Given the description of an element on the screen output the (x, y) to click on. 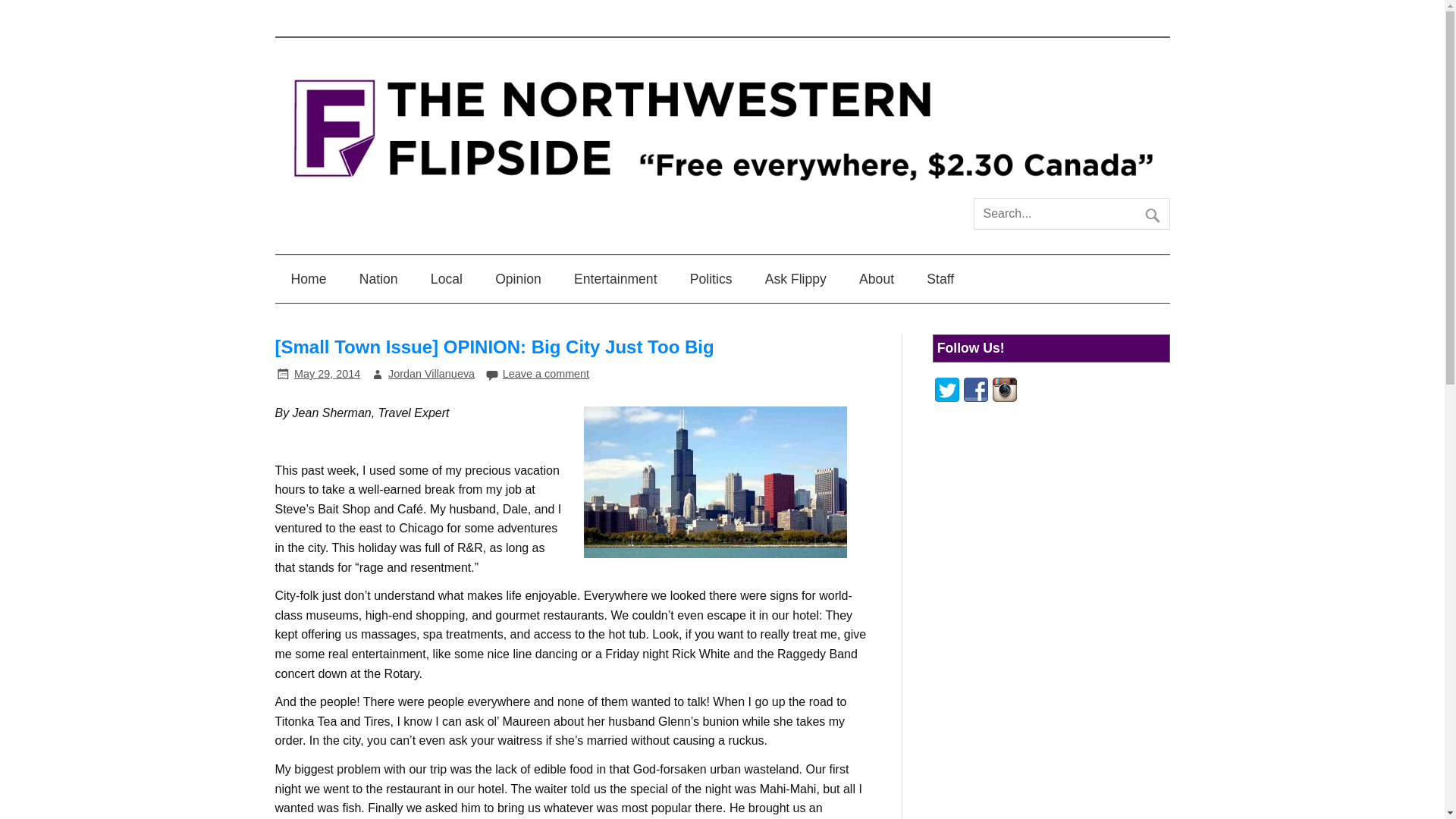
Home (308, 278)
May 29, 2014 (326, 373)
Staff (940, 278)
View all posts by Jordan Villanueva (431, 373)
2:00 pm (326, 373)
Nation (378, 278)
Local (446, 278)
Northwestern Flipside (722, 191)
Entertainment (614, 278)
Politics (711, 278)
